Given the description of an element on the screen output the (x, y) to click on. 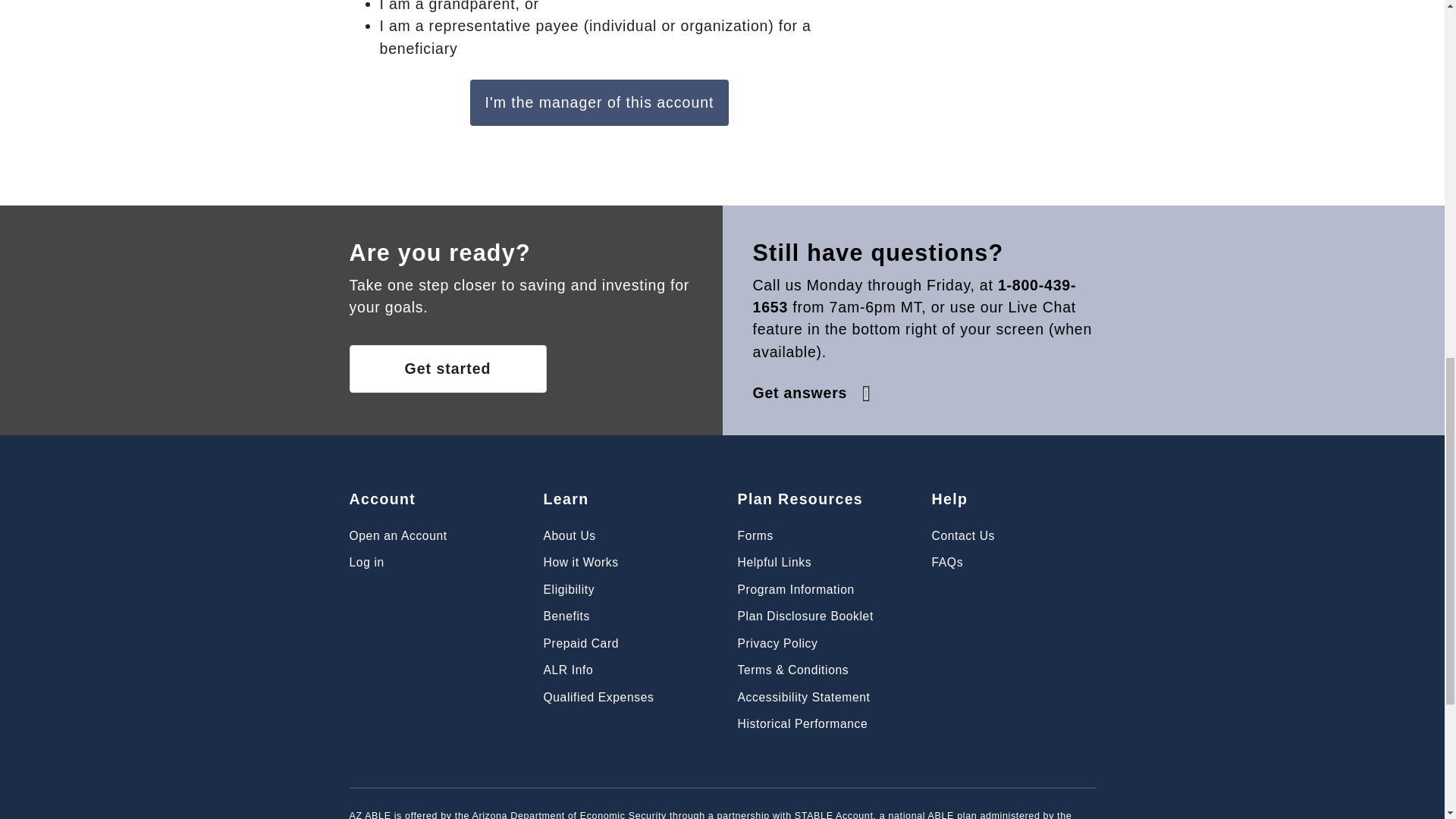
Qualified Expenses (598, 697)
About Us (569, 535)
Privacy Policy (776, 643)
Forms (754, 535)
Eligibility (568, 589)
Get started (447, 368)
Historical Performance (801, 723)
I'm the manager of this account (599, 102)
Get answers (812, 392)
Log in (366, 562)
Program Information (794, 589)
Benefits (566, 615)
ALR Info (567, 669)
Contact Us (962, 535)
Accessibility Statement (802, 697)
